Given the description of an element on the screen output the (x, y) to click on. 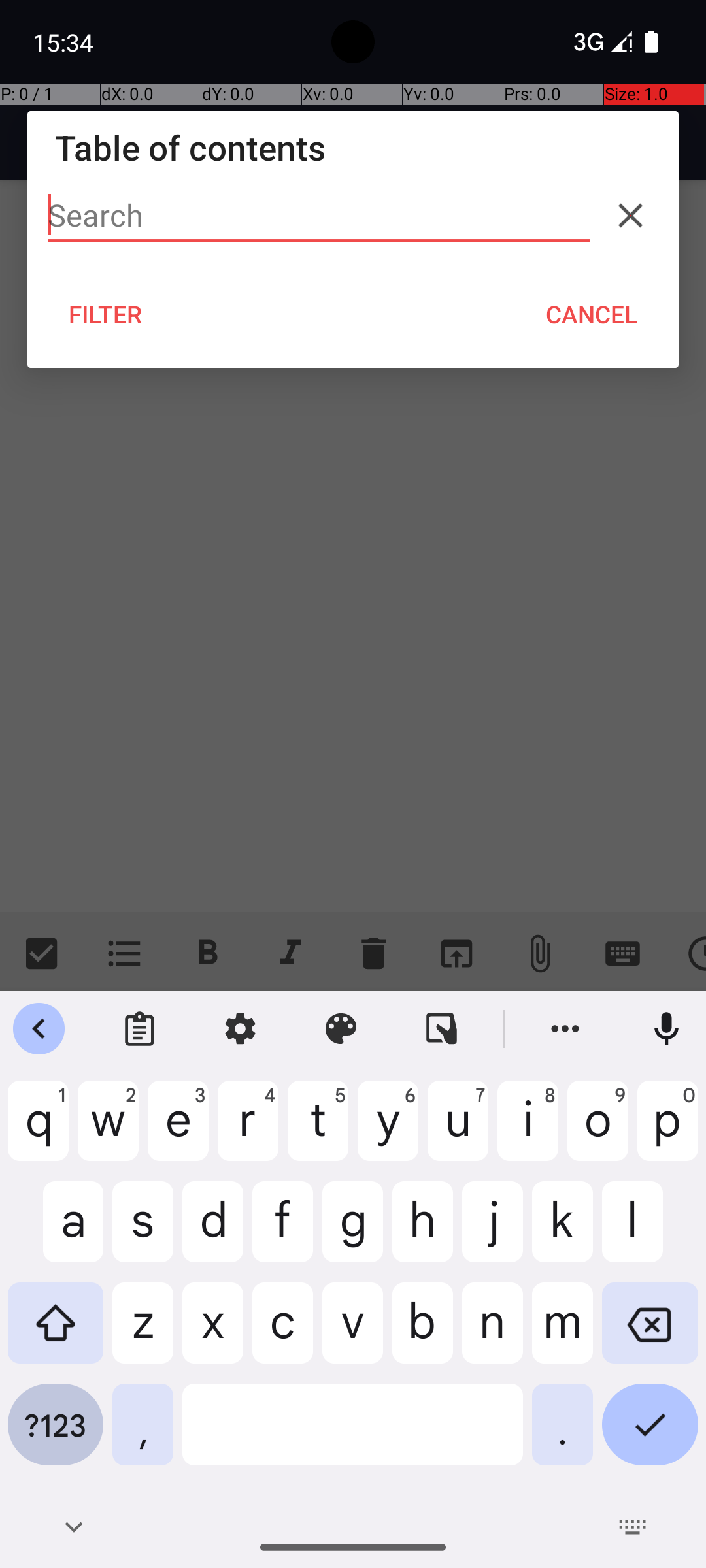
FILTER Element type: android.widget.Button (105, 313)
